Given the description of an element on the screen output the (x, y) to click on. 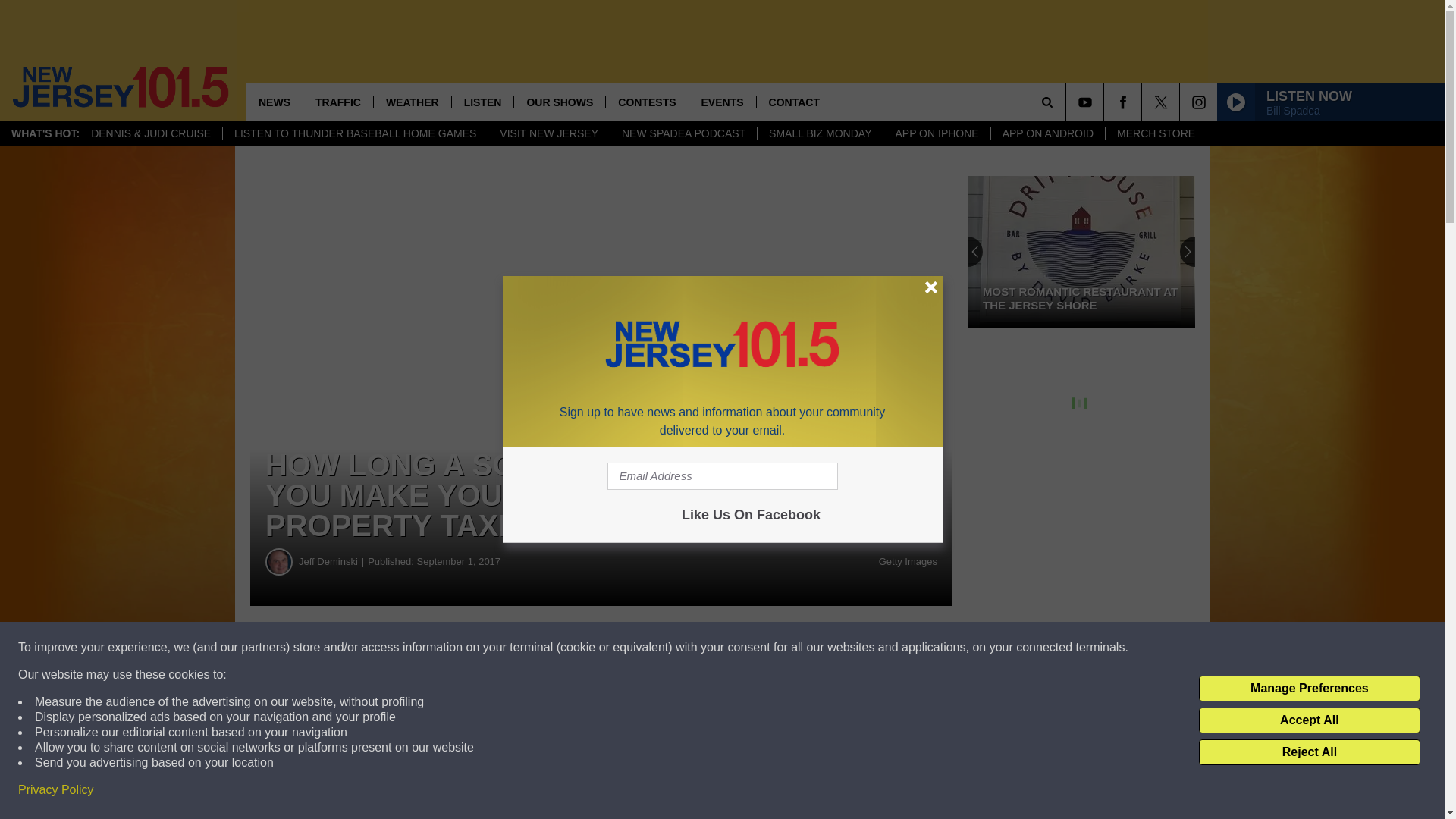
SMALL BIZ MONDAY (819, 133)
Share on Facebook (460, 647)
APP ON ANDROID (1047, 133)
APP ON IPHONE (936, 133)
WEATHER (411, 102)
SEARCH (1068, 102)
LISTEN (482, 102)
Share on Twitter (741, 647)
Manage Preferences (1309, 688)
Accept All (1309, 720)
MERCH STORE (1156, 133)
Reject All (1309, 751)
LISTEN TO THUNDER BASEBALL HOME GAMES (354, 133)
NEWS (274, 102)
Email Address (722, 475)
